Given the description of an element on the screen output the (x, y) to click on. 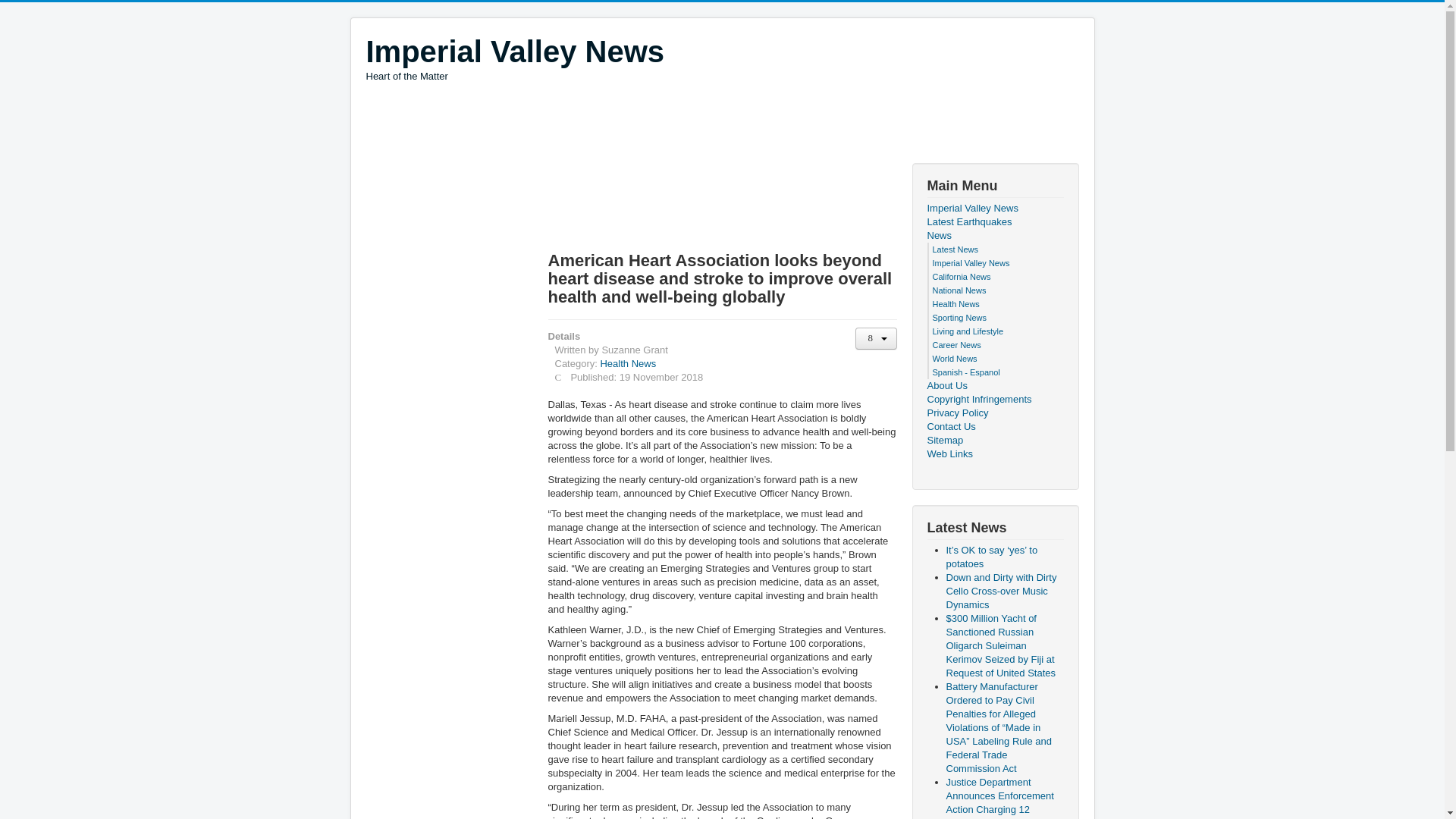
Copyright Infringements (994, 399)
Contact Us (994, 427)
Down and Dirty with Dirty Cello Cross-over Music Dynamics (1001, 590)
Sporting News (960, 317)
Sitemap (994, 440)
National News (960, 289)
Living and Lifestyle (968, 330)
Latest News (955, 248)
Web Links (994, 454)
News (994, 235)
World News (954, 358)
Imperial Valley News (514, 51)
Advertisement (514, 58)
